Given the description of an element on the screen output the (x, y) to click on. 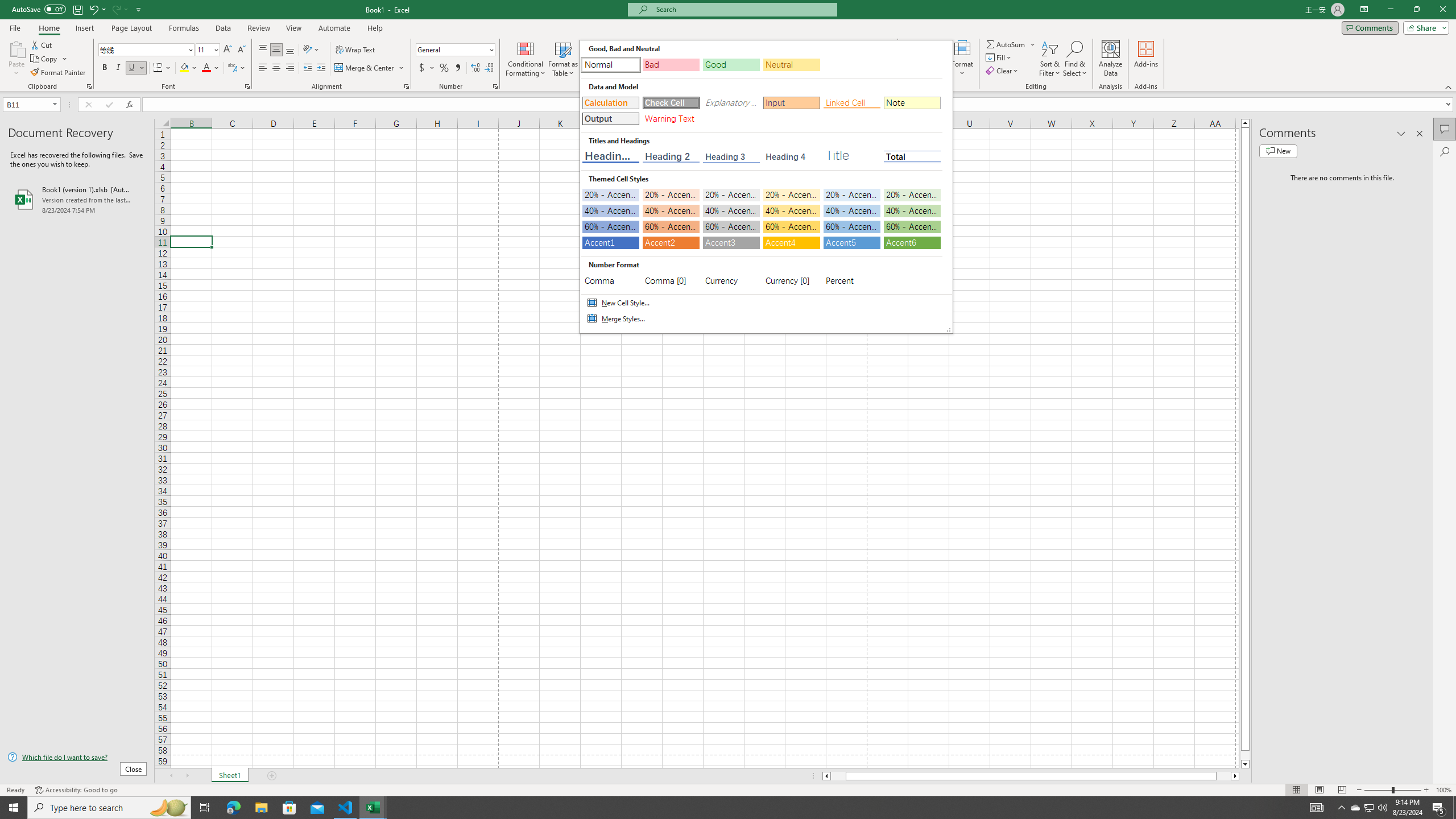
Italic (118, 67)
Task View (204, 807)
Decrease Indent (307, 67)
Copy (49, 58)
